Given the description of an element on the screen output the (x, y) to click on. 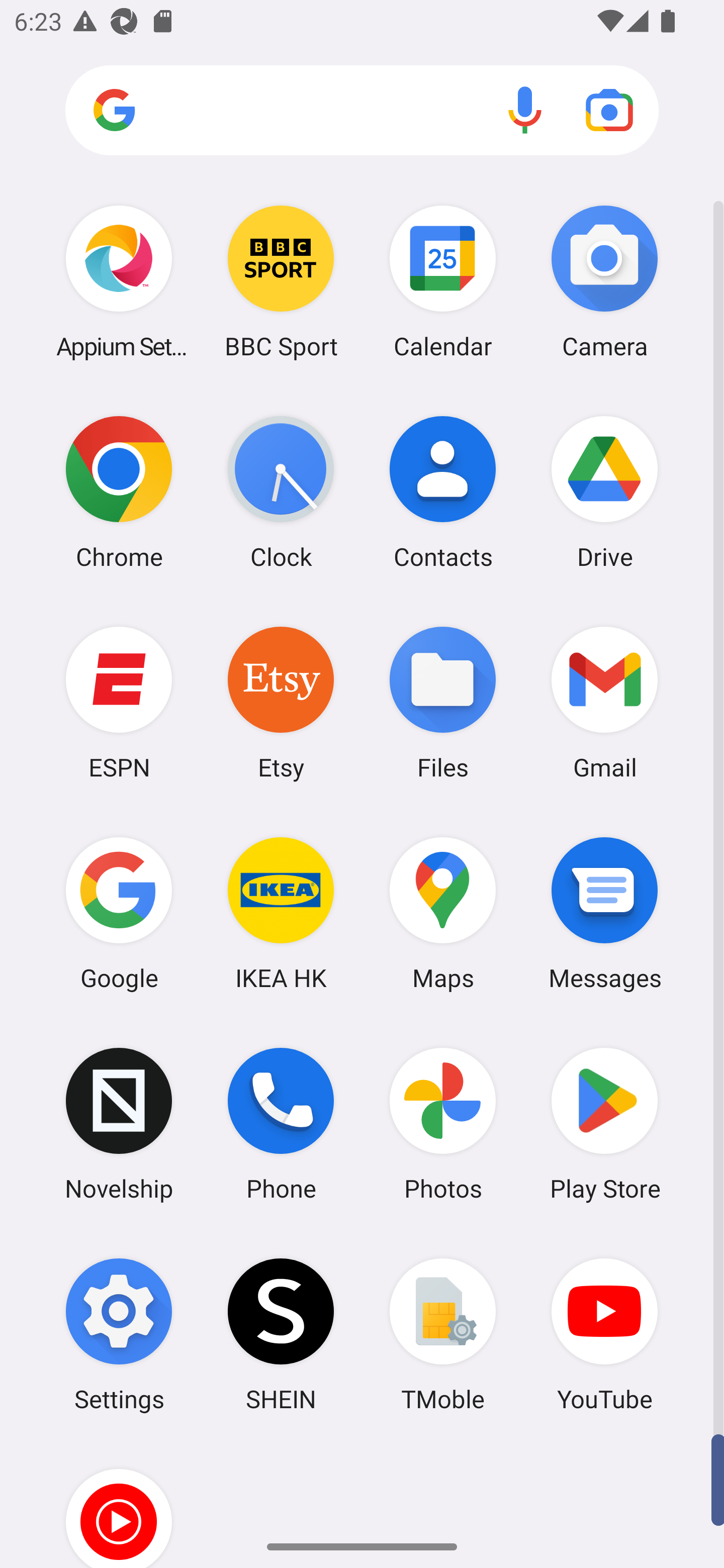
Search apps, web and more (361, 110)
Voice search (524, 109)
Google Lens (608, 109)
Appium Settings (118, 281)
BBC Sport (280, 281)
Calendar (443, 281)
Camera (604, 281)
Chrome (118, 492)
Clock (280, 492)
Contacts (443, 492)
Drive (604, 492)
ESPN (118, 702)
Etsy (280, 702)
Files (443, 702)
Gmail (604, 702)
Google (118, 913)
IKEA HK (280, 913)
Maps (443, 913)
Messages (604, 913)
Novelship (118, 1124)
Phone (280, 1124)
Photos (443, 1124)
Play Store (604, 1124)
Settings (118, 1334)
SHEIN (280, 1334)
TMoble (443, 1334)
YouTube (604, 1334)
YT Music (118, 1503)
